Given the description of an element on the screen output the (x, y) to click on. 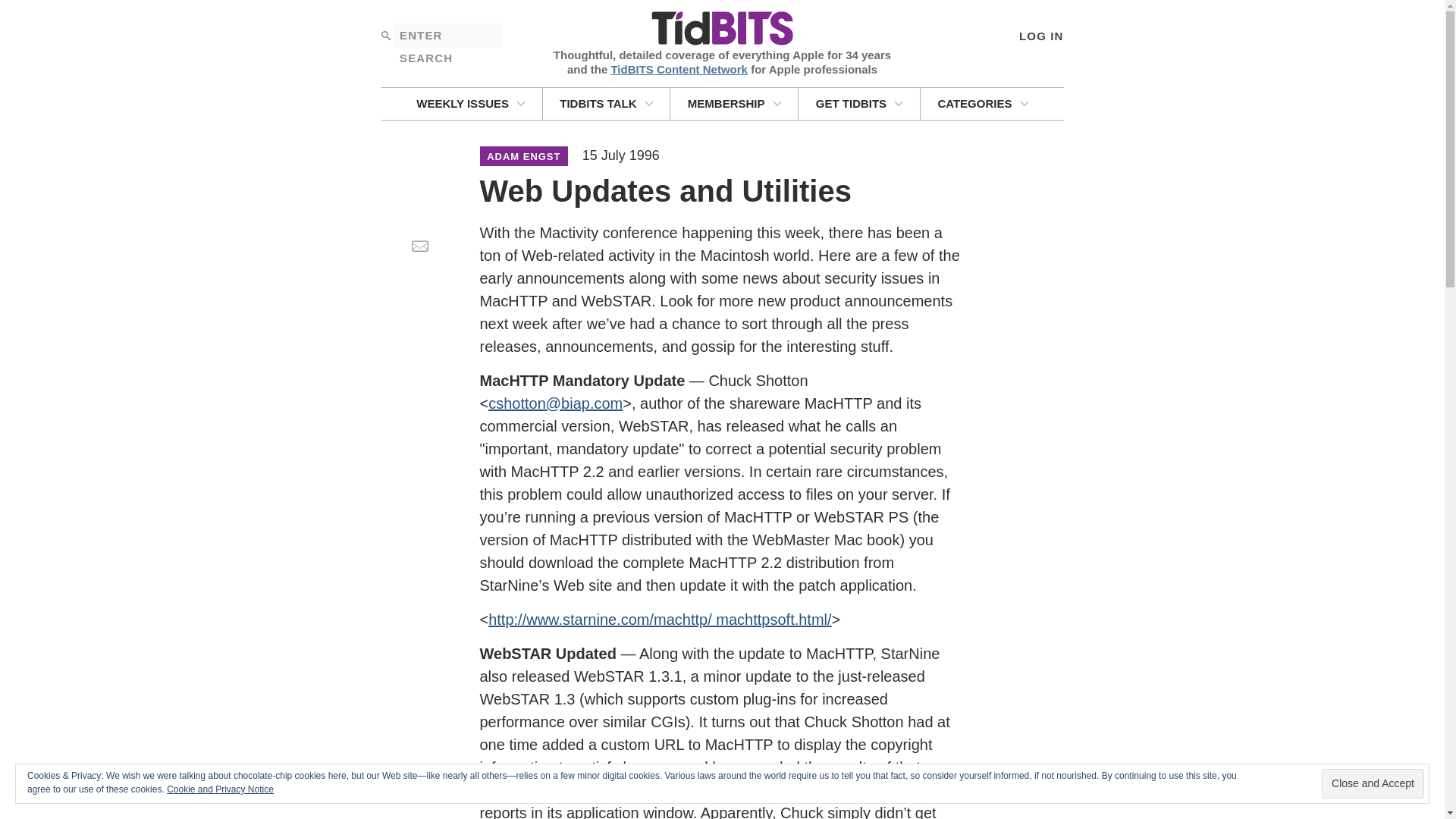
Close and Accept (1372, 783)
TidBITS (721, 28)
GET TIDBITS (858, 103)
TIDBITS TALK (606, 103)
TidBITS Content Network (679, 68)
Search (385, 35)
MEMBERSHIP (733, 103)
Click to email a link to a friend (419, 246)
LOG IN (1040, 34)
CATEGORIES (982, 103)
WEEKLY ISSUES (469, 103)
